Given the description of an element on the screen output the (x, y) to click on. 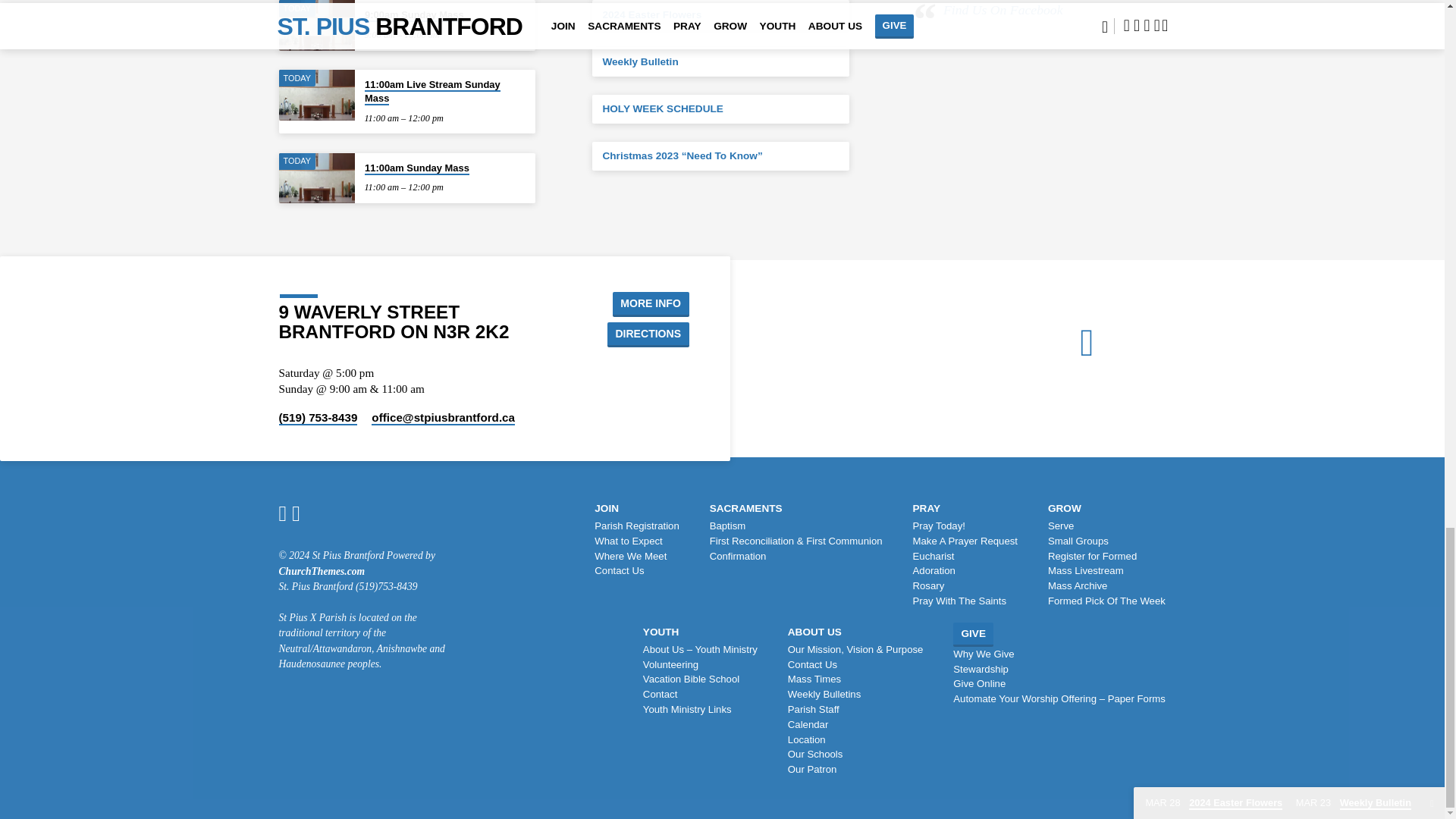
9:00am Sunday Mass (414, 15)
9:00am Sunday Mass (317, 25)
11:00am Sunday Mass (416, 168)
11:00am Live Stream Sunday Mass (432, 91)
11:00am Live Stream Sunday Mass (317, 94)
11:00am Sunday Mass (317, 178)
